Given the description of an element on the screen output the (x, y) to click on. 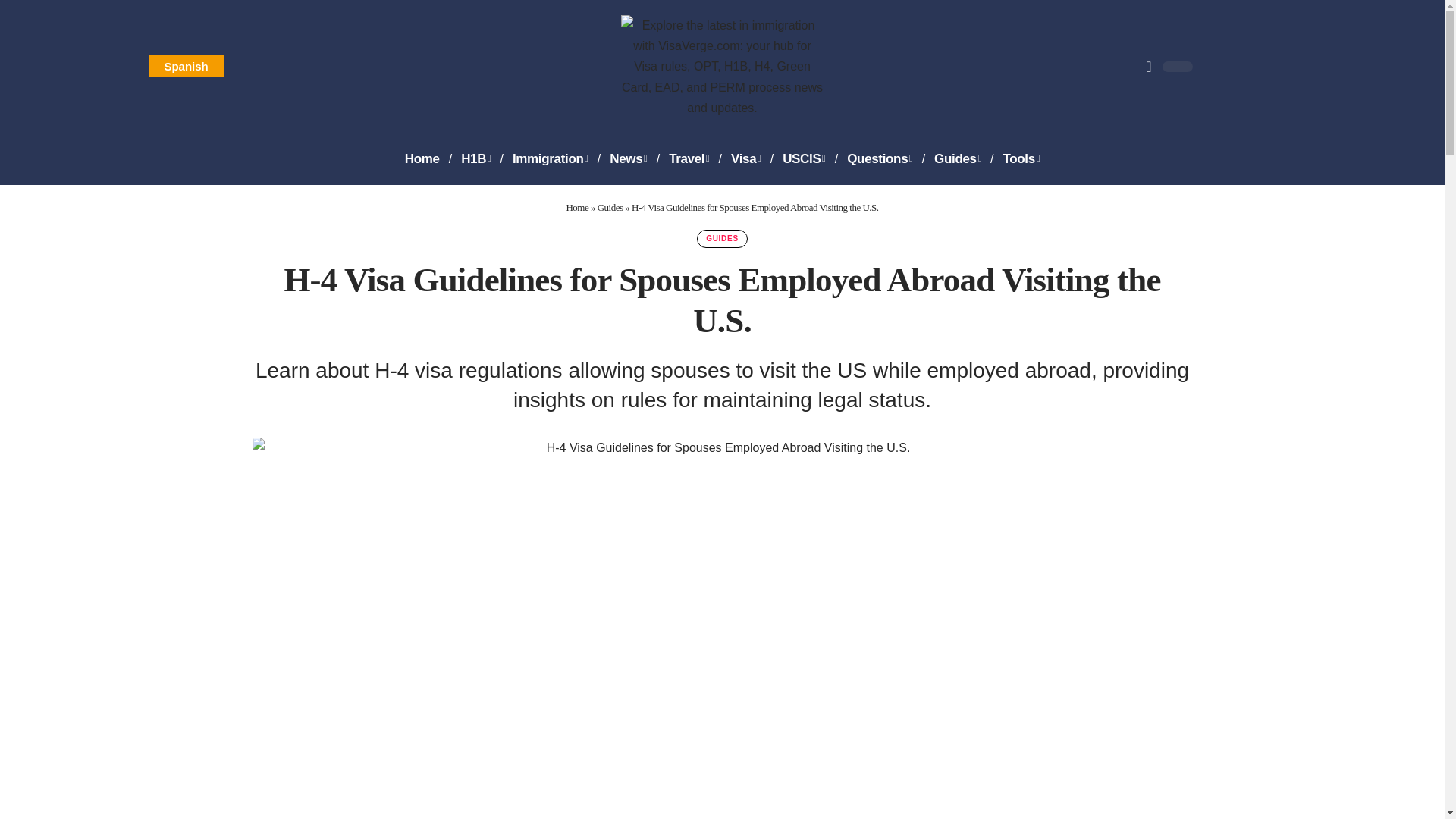
Immigration (549, 158)
H1B (475, 158)
Home (422, 158)
Travel (688, 158)
News (627, 158)
Spanish (185, 65)
Visa (746, 158)
